Given the description of an element on the screen output the (x, y) to click on. 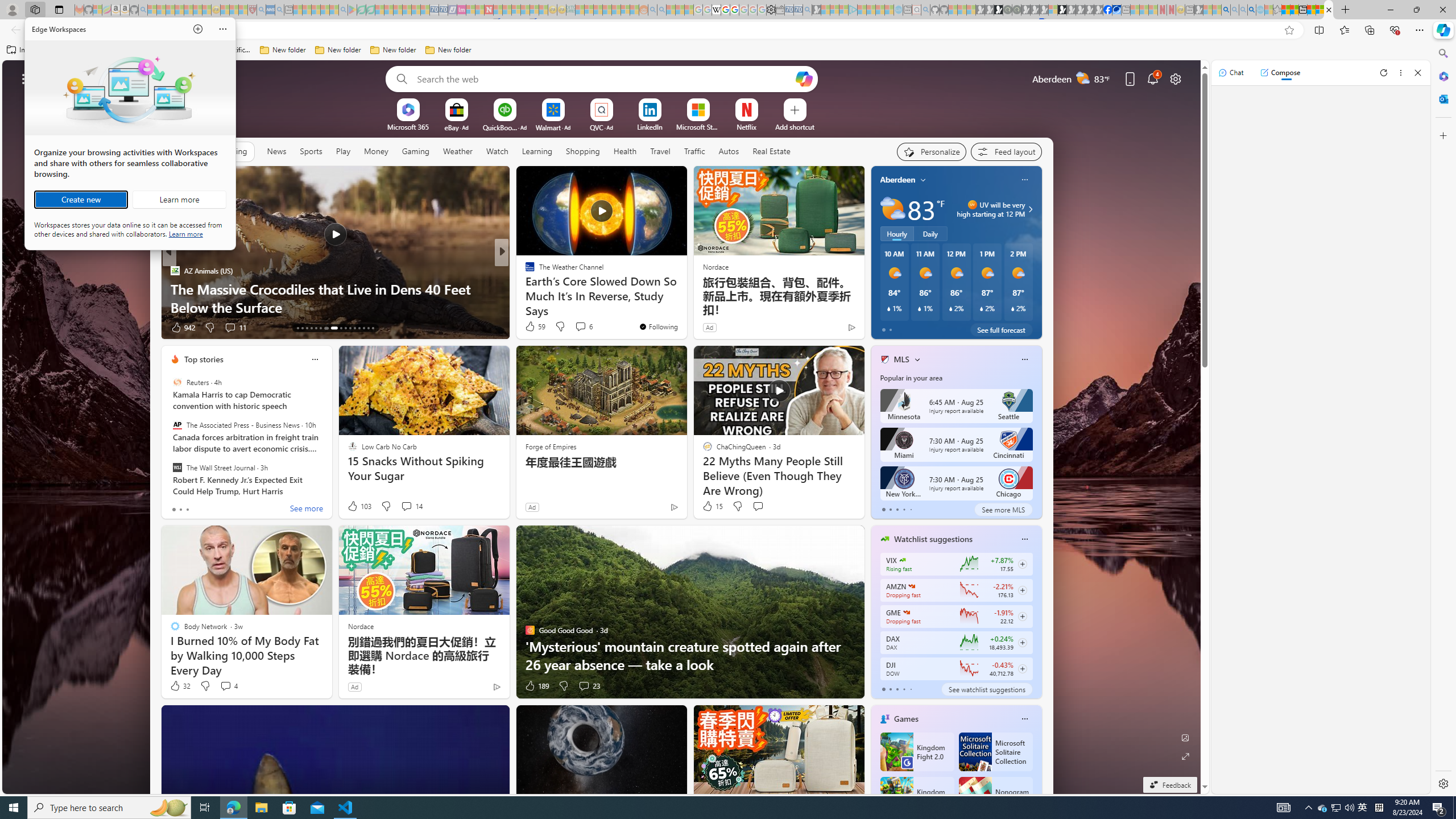
Sign in to your account - Sleeping (1052, 9)
Play (342, 151)
Real Estate (771, 151)
Class: weather-current-precipitation-glyph (1012, 308)
My location (922, 179)
Enter your search term (603, 78)
View comments 14 Comment (406, 505)
Class: follow-button  m (1021, 668)
Nordace | Facebook (1106, 9)
Forge of Empires (550, 446)
Bluey: Let's Play! - Apps on Google Play - Sleeping (352, 9)
